Given the description of an element on the screen output the (x, y) to click on. 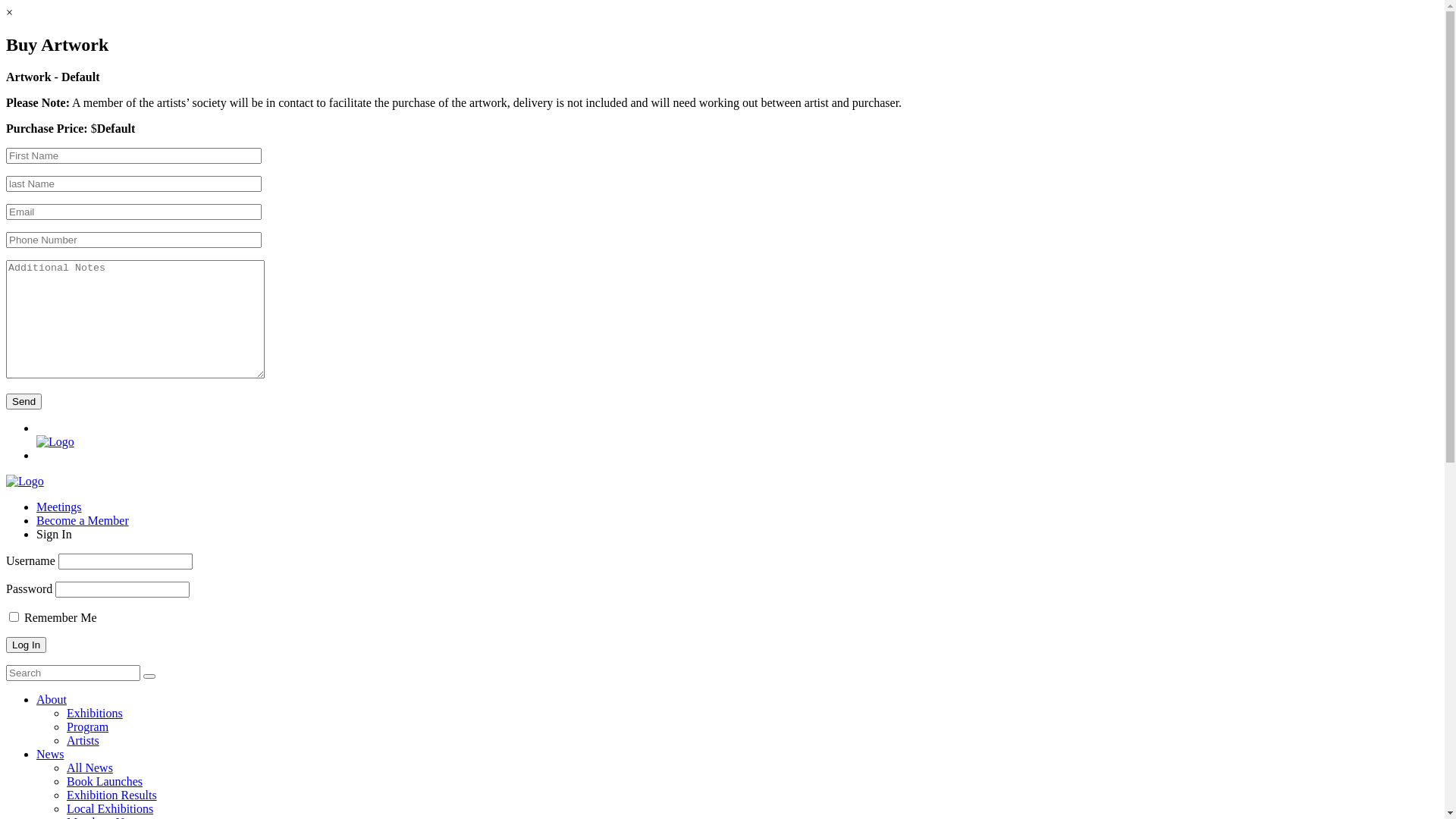
Sign In Element type: text (54, 533)
Program Element type: text (87, 726)
Book Launches Element type: text (104, 781)
Artists Element type: text (82, 740)
Meetings Element type: text (58, 506)
News Element type: text (49, 753)
Local Exhibitions Element type: text (109, 808)
Send Element type: text (23, 401)
All News Element type: text (89, 767)
About Element type: text (51, 699)
Exhibition Results Element type: text (111, 794)
Exhibitions Element type: text (94, 712)
Log In Element type: text (26, 644)
Become a Member Element type: text (82, 520)
